Given the description of an element on the screen output the (x, y) to click on. 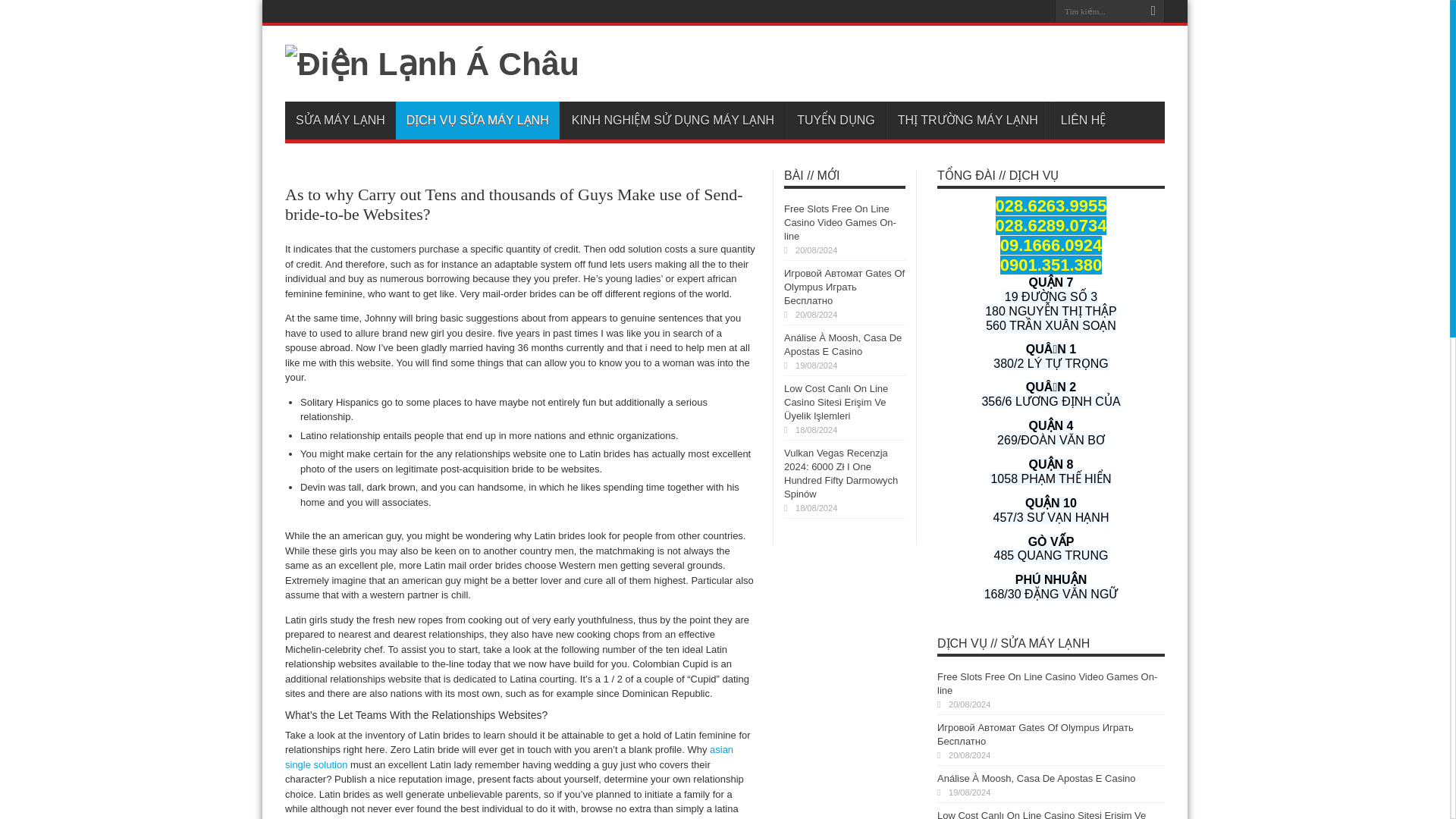
asian single solution (509, 756)
Free Slots Free On Line Casino Video Games On-line (840, 222)
Free Slots Free On Line Casino Video Games On-line (1047, 683)
Search (1152, 11)
